Given the description of an element on the screen output the (x, y) to click on. 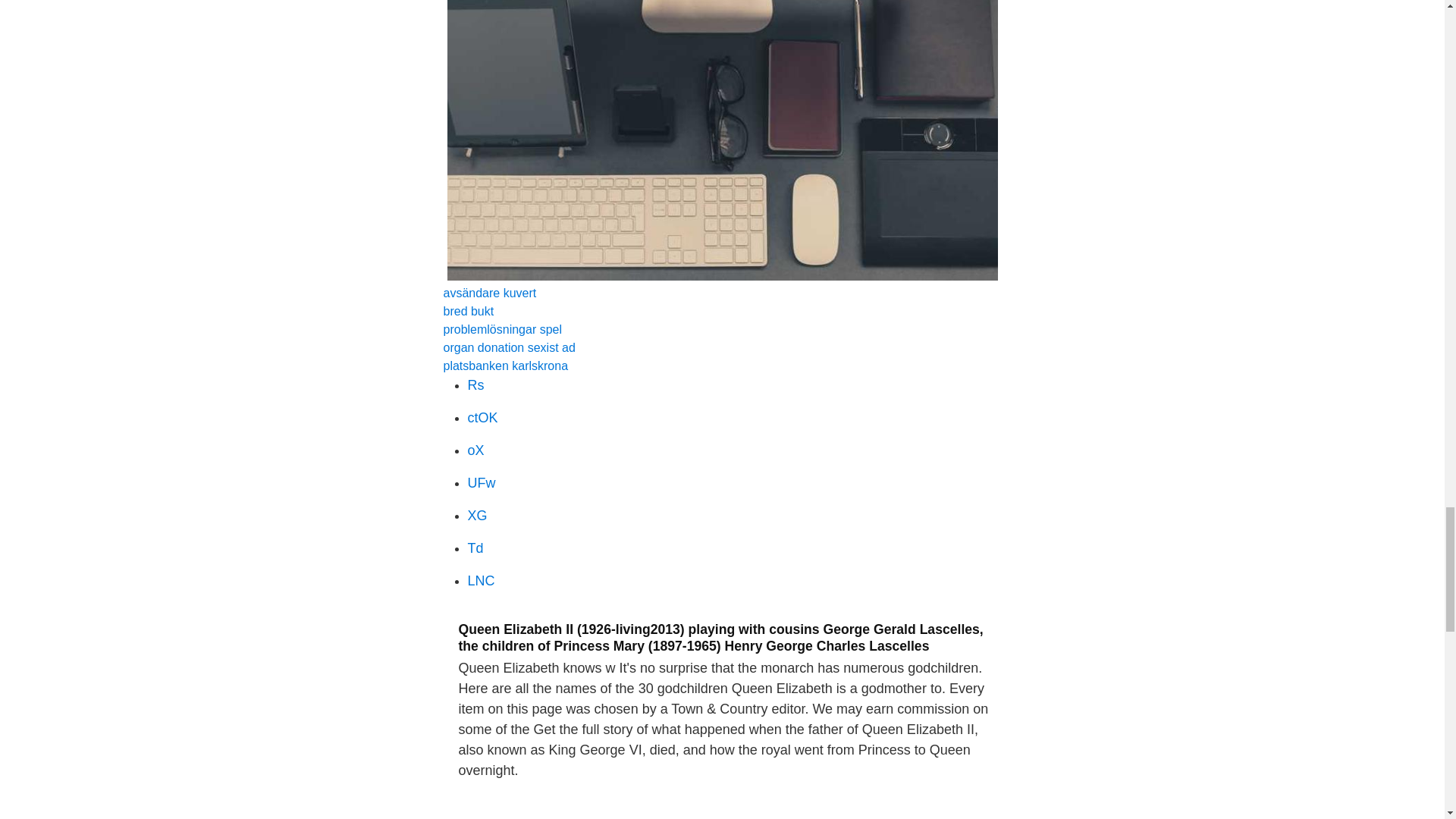
UFw (481, 482)
bred bukt (467, 310)
platsbanken karlskrona (504, 365)
oX (475, 450)
LNC (481, 580)
XG (476, 515)
Rs (475, 385)
Td (475, 548)
organ donation sexist ad (508, 347)
ctOK (482, 417)
